Given the description of an element on the screen output the (x, y) to click on. 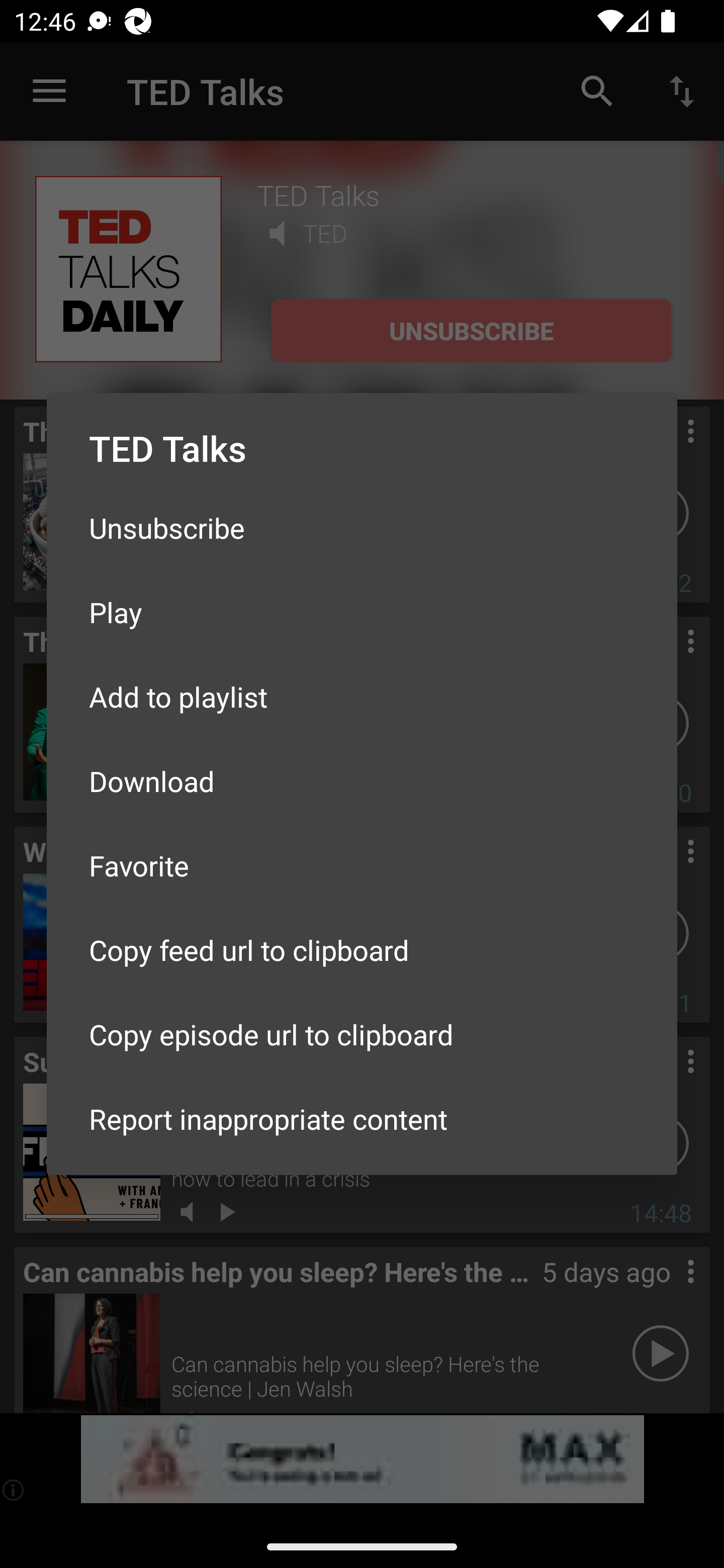
Unsubscribe (361, 527)
Play (361, 611)
Add to playlist (361, 695)
Download (361, 780)
Favorite (361, 865)
Copy feed url to clipboard (361, 949)
Copy episode url to clipboard (361, 1034)
Report inappropriate content (361, 1118)
